Given the description of an element on the screen output the (x, y) to click on. 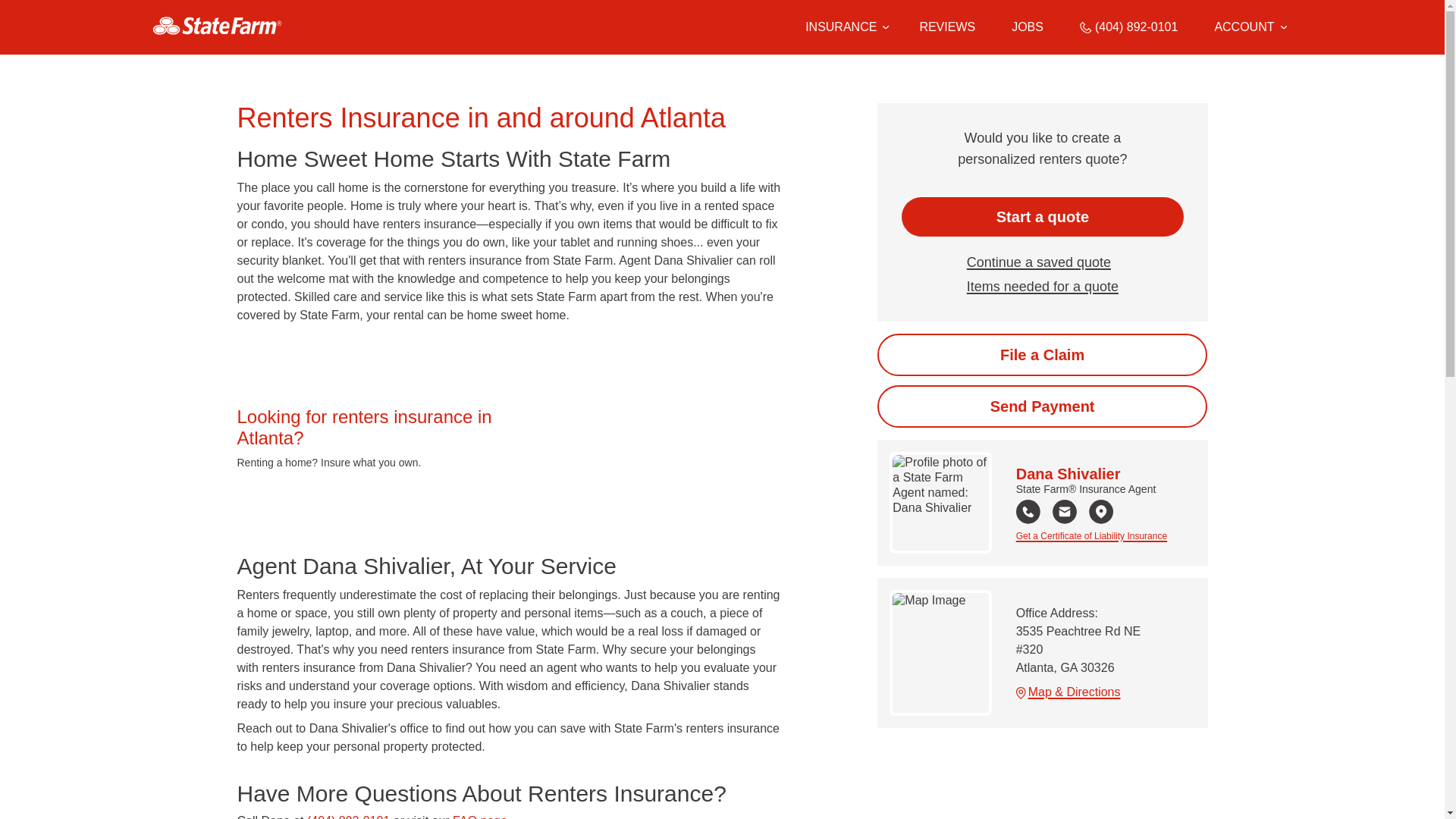
Account Options (1250, 27)
REVIEWS (946, 27)
JOBS (1027, 27)
FAQ page (479, 816)
Start the claim process online (1042, 354)
ACCOUNT (1250, 27)
INSURANCE (840, 27)
Insurance (844, 27)
